Given the description of an element on the screen output the (x, y) to click on. 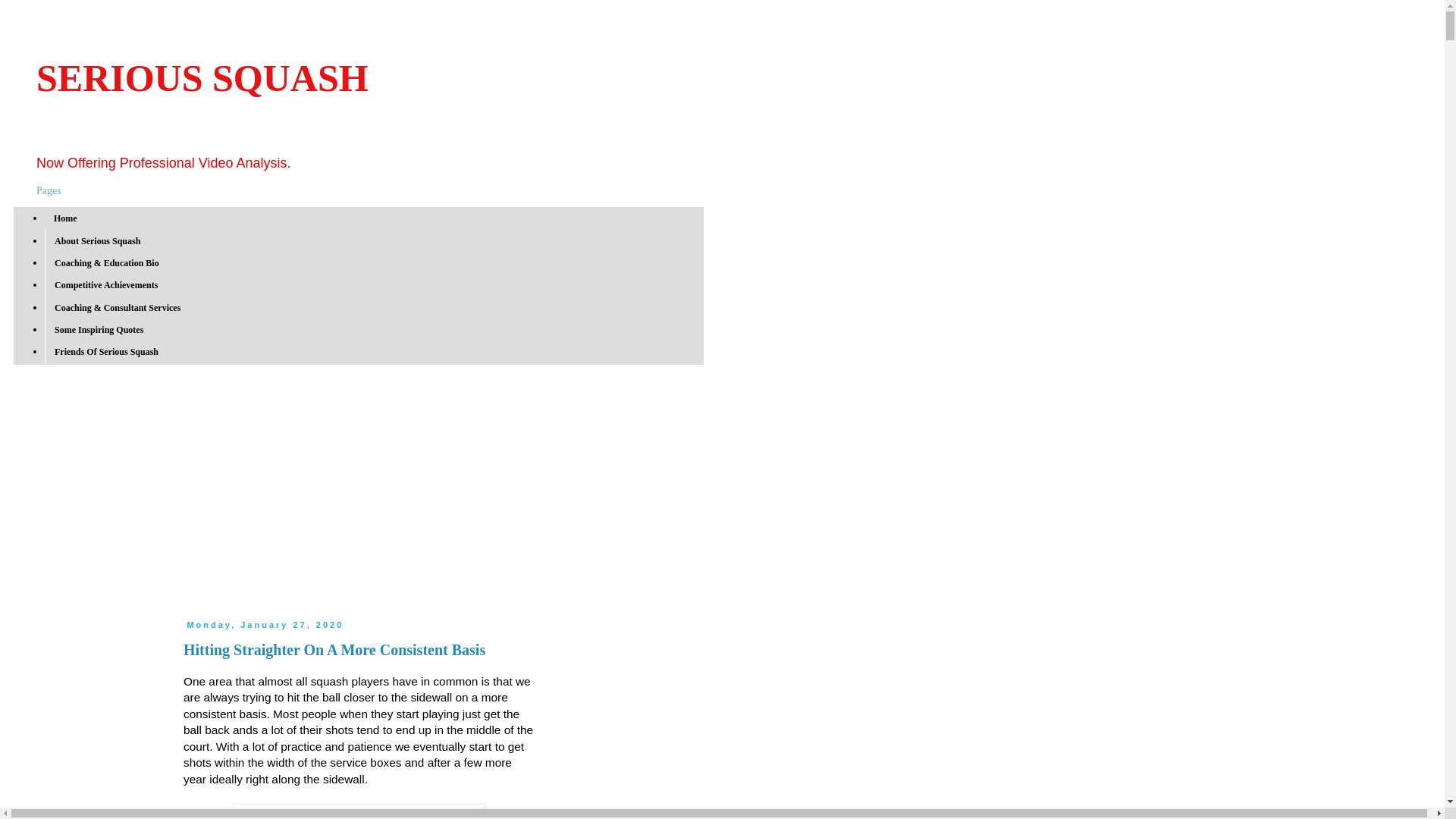
About Serious Squash (97, 240)
Friends Of Serious Squash (106, 352)
SERIOUS SQUASH (202, 77)
Some Inspiring Quotes (98, 330)
Competitive Achievements (106, 285)
Home (66, 219)
Hitting Straighter On A More Consistent Basis (333, 649)
